Given the description of an element on the screen output the (x, y) to click on. 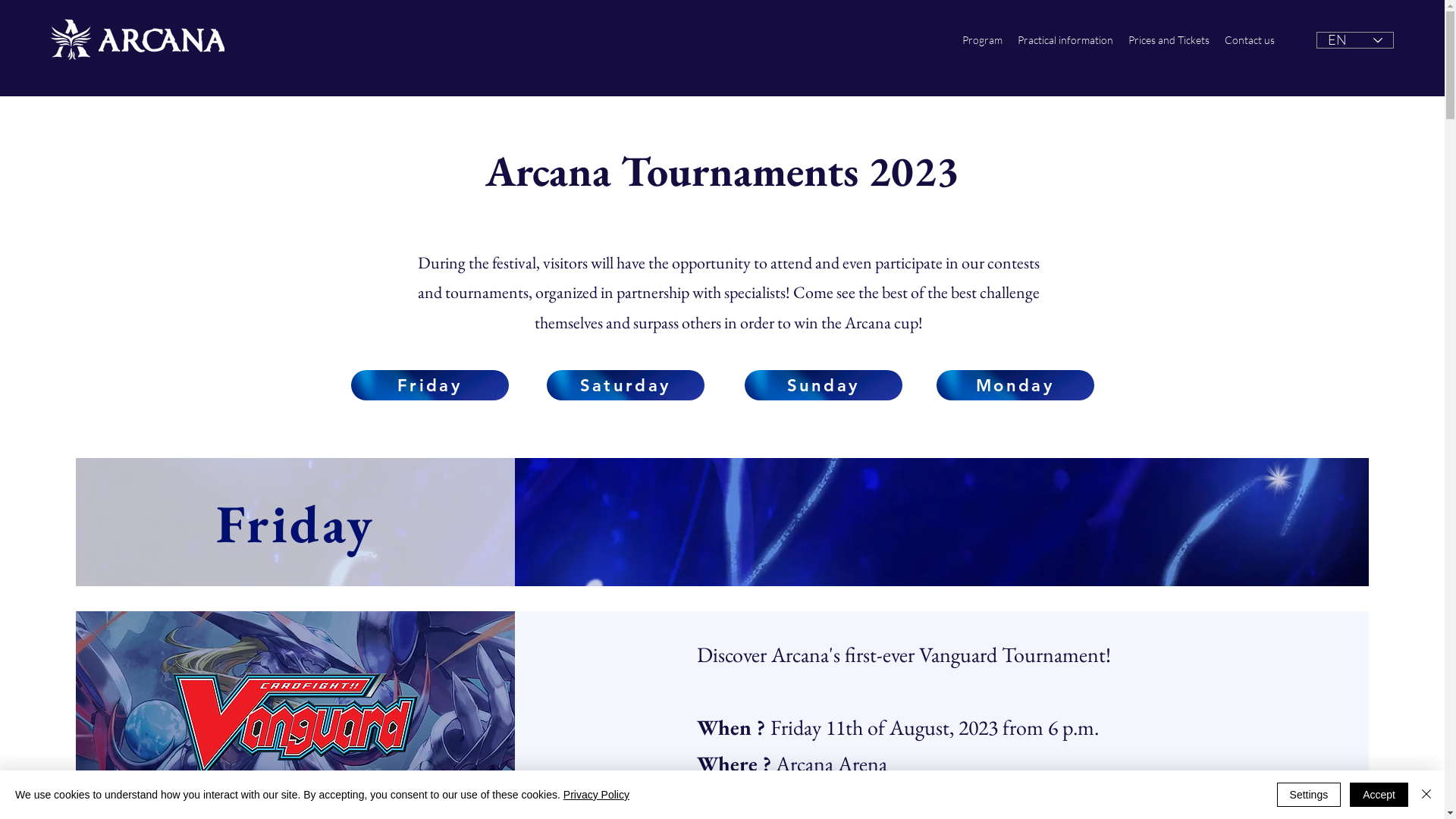
Settings Element type: text (1309, 794)
Monday Element type: text (1014, 385)
Info and registration Element type: text (1070, 789)
Practical information Element type: text (1065, 39)
Contact us Element type: text (1249, 39)
Prices and Tickets Element type: text (1168, 39)
Program Element type: text (982, 39)
Friday Element type: text (429, 385)
Sunday Element type: text (823, 385)
Privacy Policy Element type: text (596, 794)
Saturday Element type: text (624, 385)
Accept Element type: text (1378, 794)
